Given the description of an element on the screen output the (x, y) to click on. 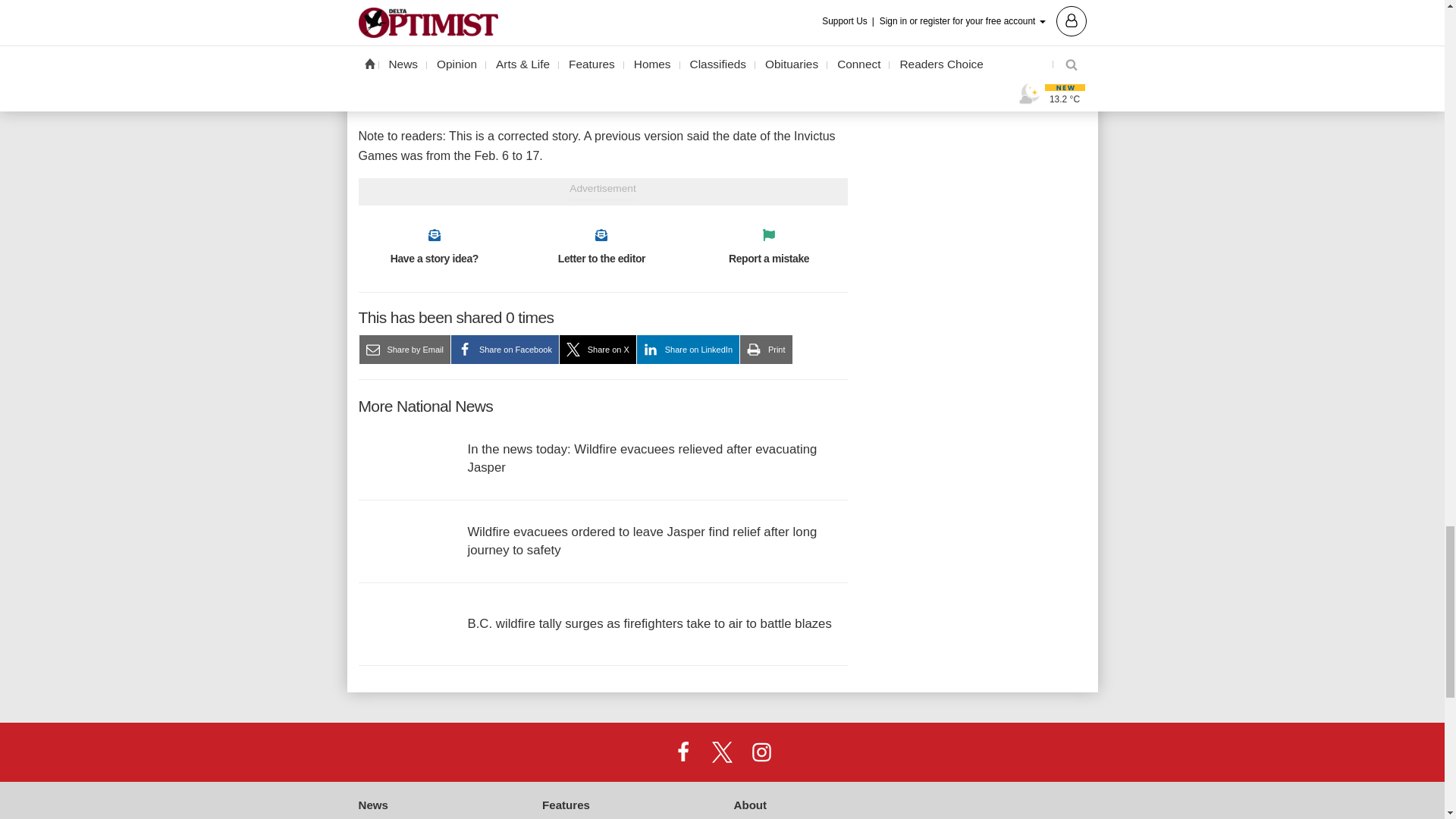
X (721, 751)
Instagram (760, 751)
Facebook (683, 751)
